Given the description of an element on the screen output the (x, y) to click on. 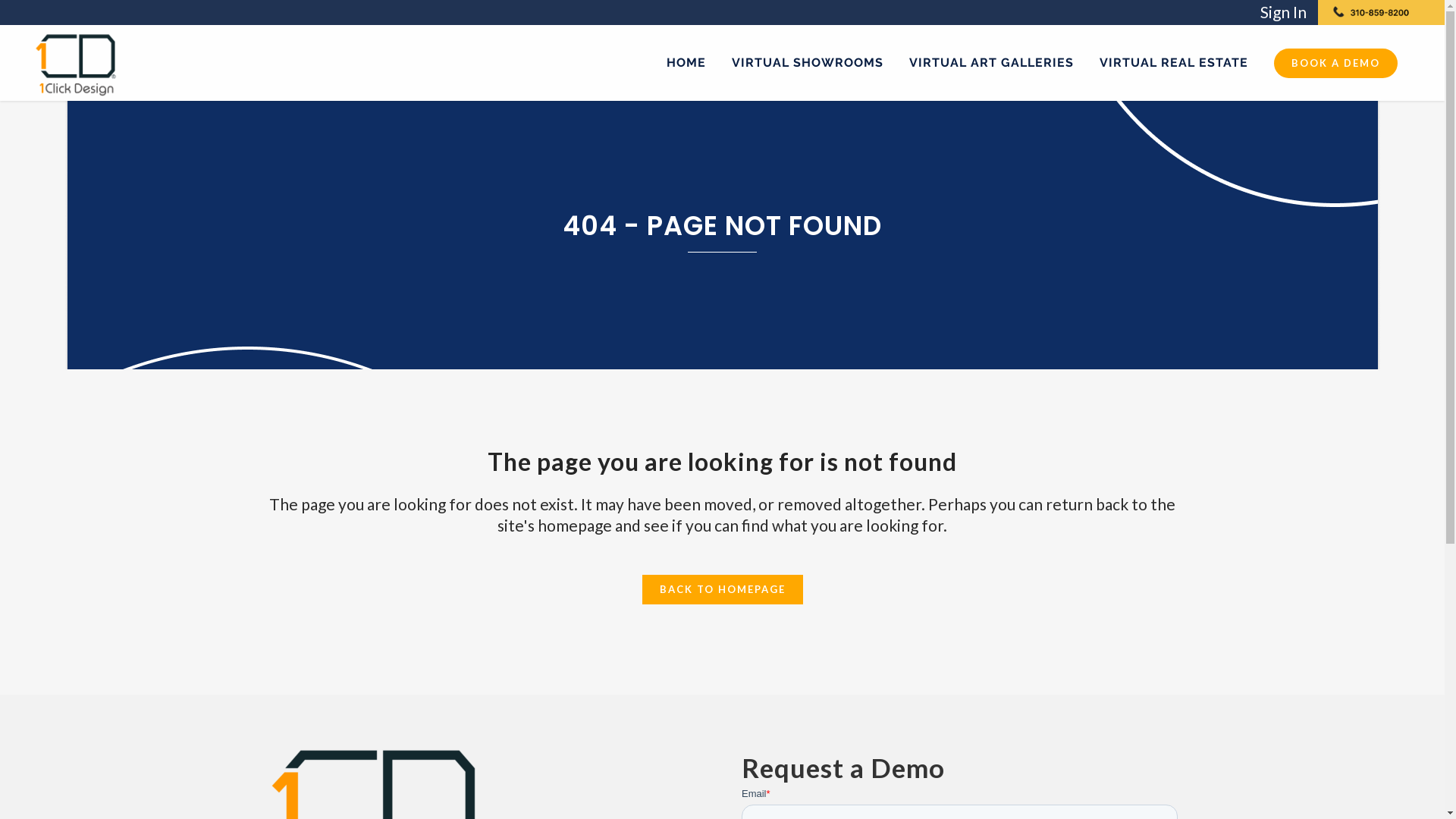
HOME Element type: text (685, 62)
BOOK A DEMO Element type: text (1335, 63)
BACK TO HOMEPAGE Element type: text (721, 589)
VIRTUAL ART GALLERIES Element type: text (991, 62)
VIRTUAL SHOWROOMS Element type: text (807, 62)
Sign In Element type: text (1283, 11)
VIRTUAL REAL ESTATE Element type: text (1173, 62)
